Given the description of an element on the screen output the (x, y) to click on. 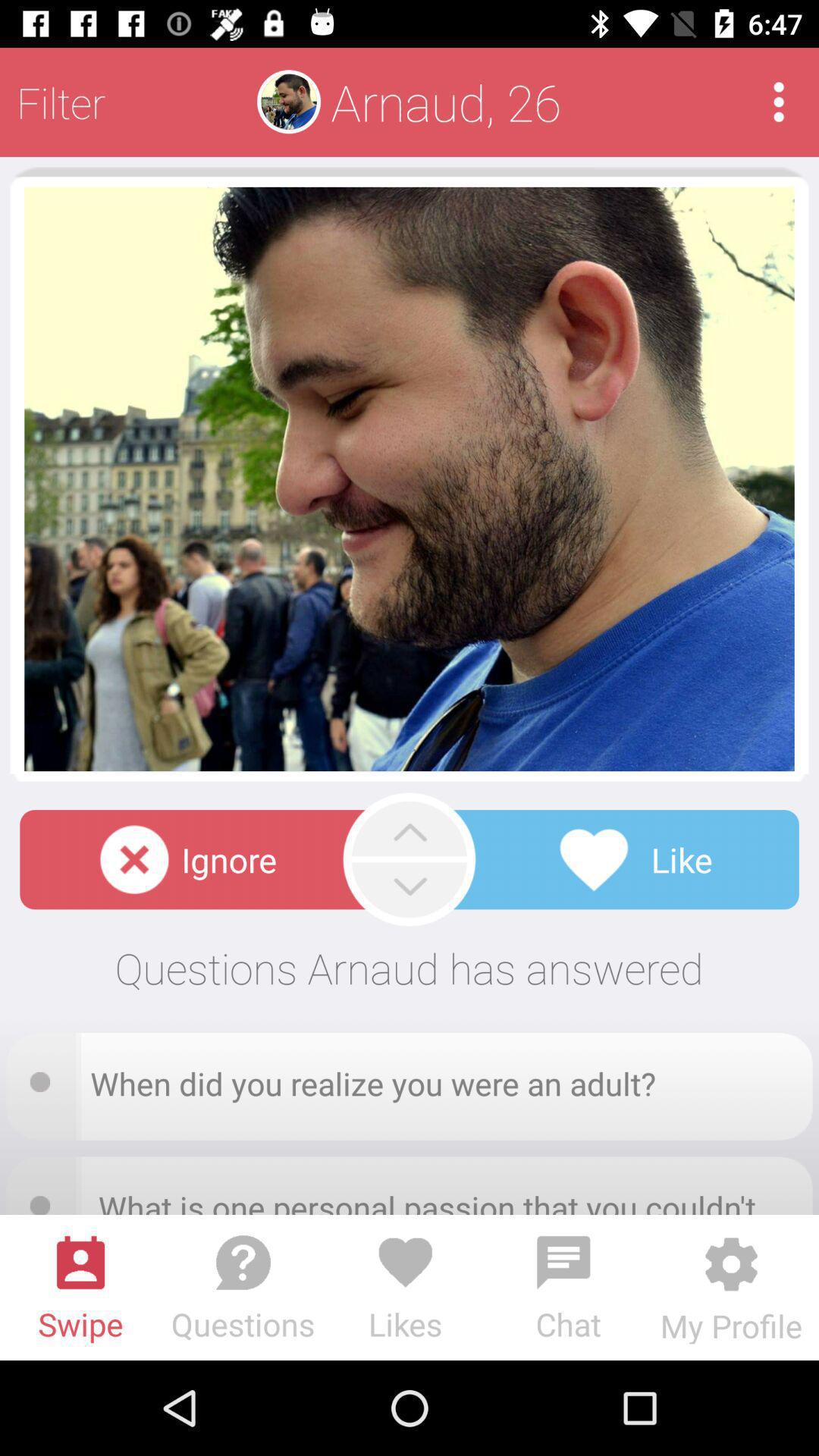
see app menu (778, 101)
